Given the description of an element on the screen output the (x, y) to click on. 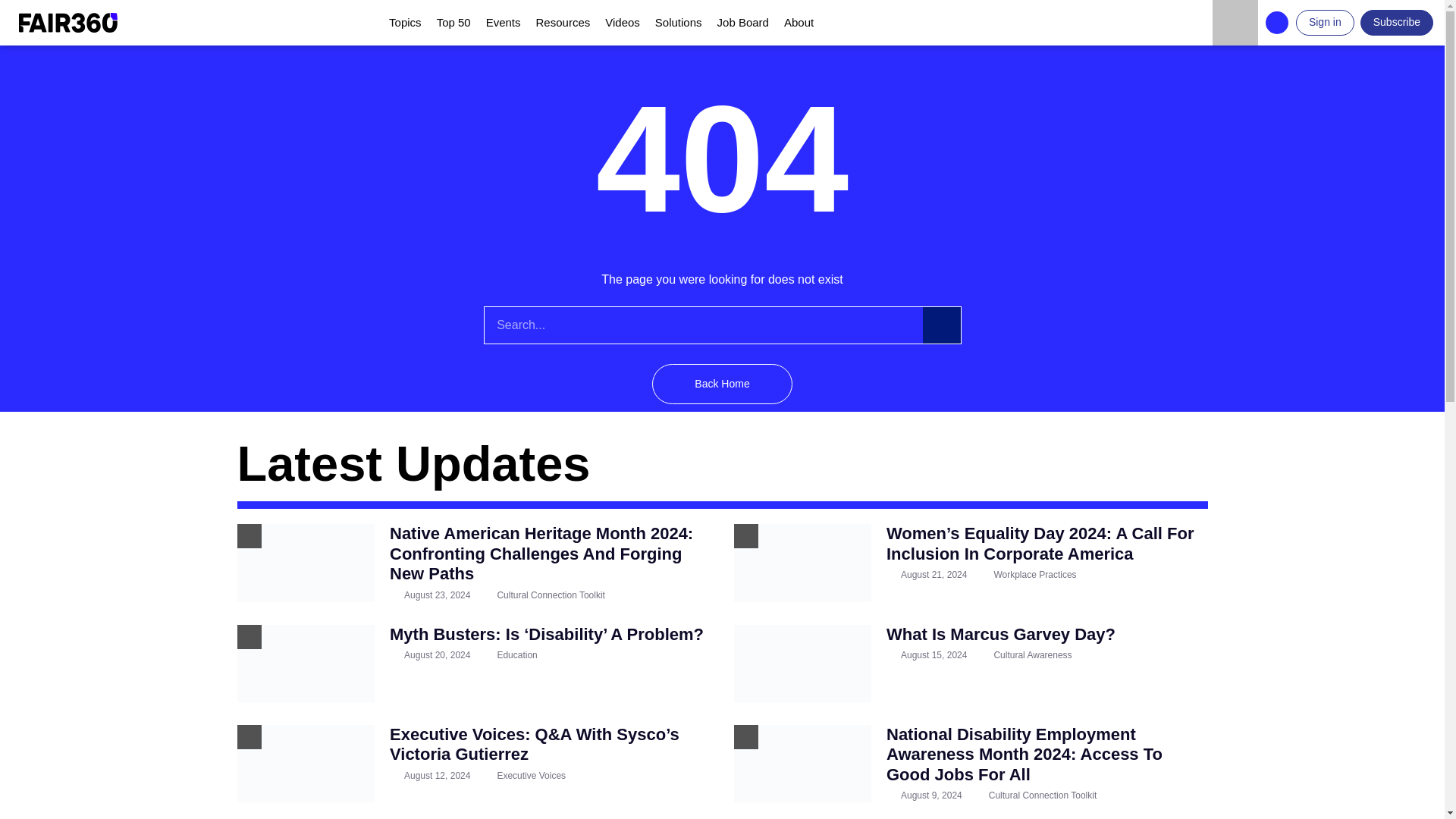
Videos (621, 22)
Topics (405, 22)
Resources (563, 22)
Top 50 (454, 22)
Events (503, 22)
